Given the description of an element on the screen output the (x, y) to click on. 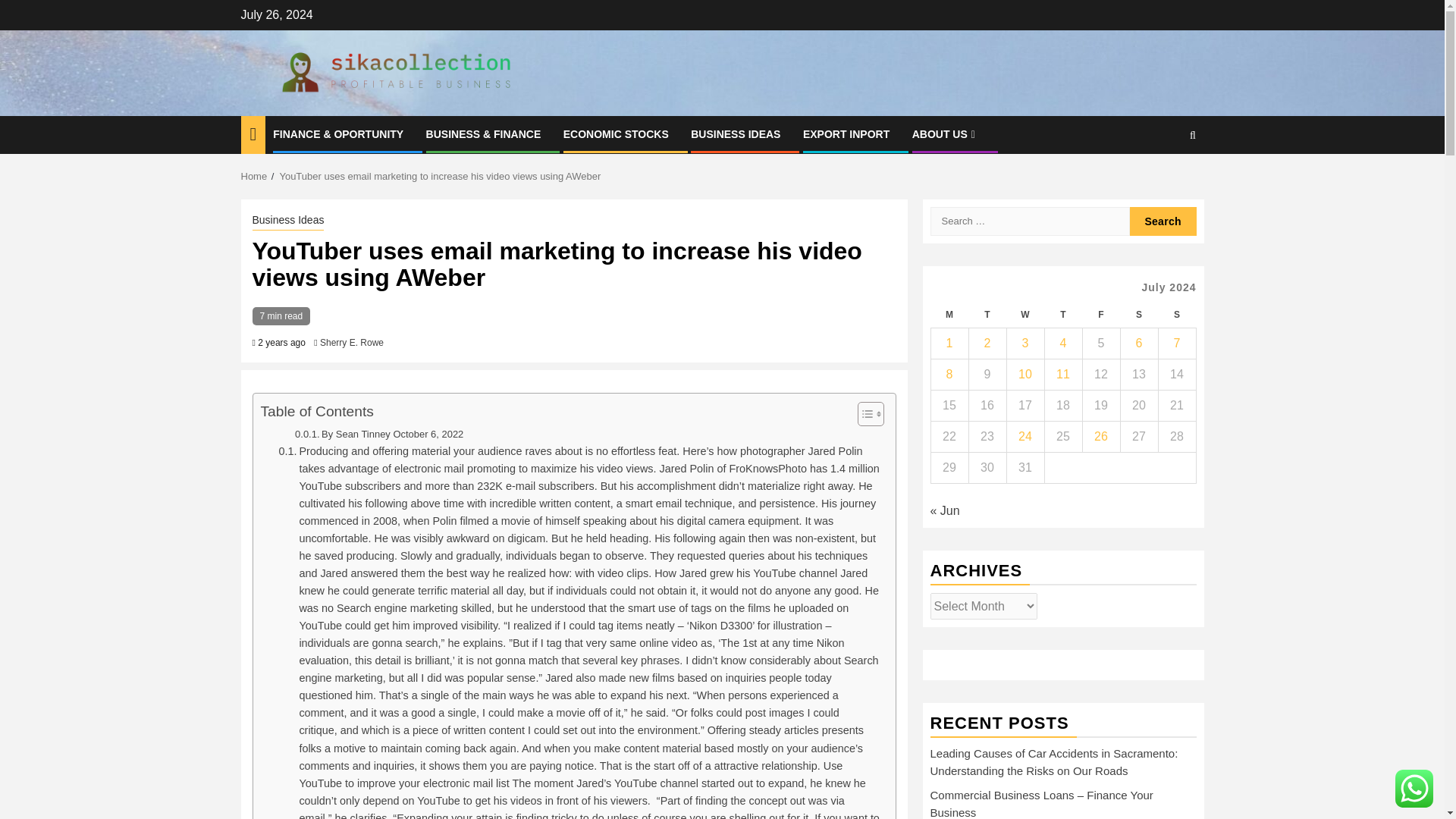
Sherry E. Rowe (352, 342)
Home (254, 175)
ABOUT US (945, 133)
Saturday (1138, 315)
Thursday (1062, 315)
Friday (1100, 315)
Search (1162, 221)
Monday (949, 315)
By Sean Tinney October 6, 2022 (379, 434)
By Sean Tinney  October 6, 2022 (379, 434)
Business Ideas (287, 221)
Wednesday (1024, 315)
Tuesday (987, 315)
BUSINESS IDEAS (735, 133)
